Given the description of an element on the screen output the (x, y) to click on. 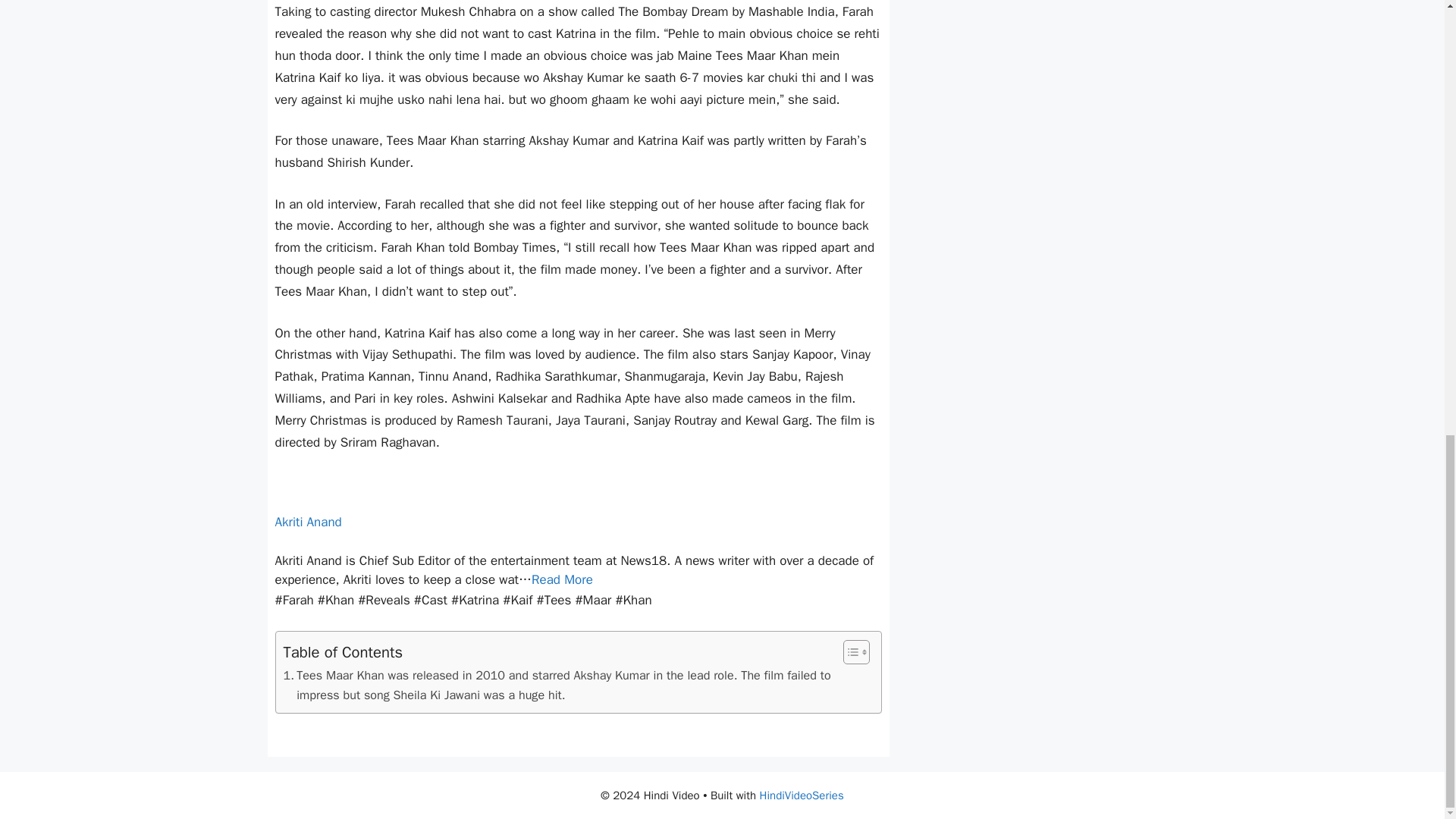
HindiVideoSeries (802, 795)
Read More (561, 579)
Akriti Anand (307, 521)
